Given the description of an element on the screen output the (x, y) to click on. 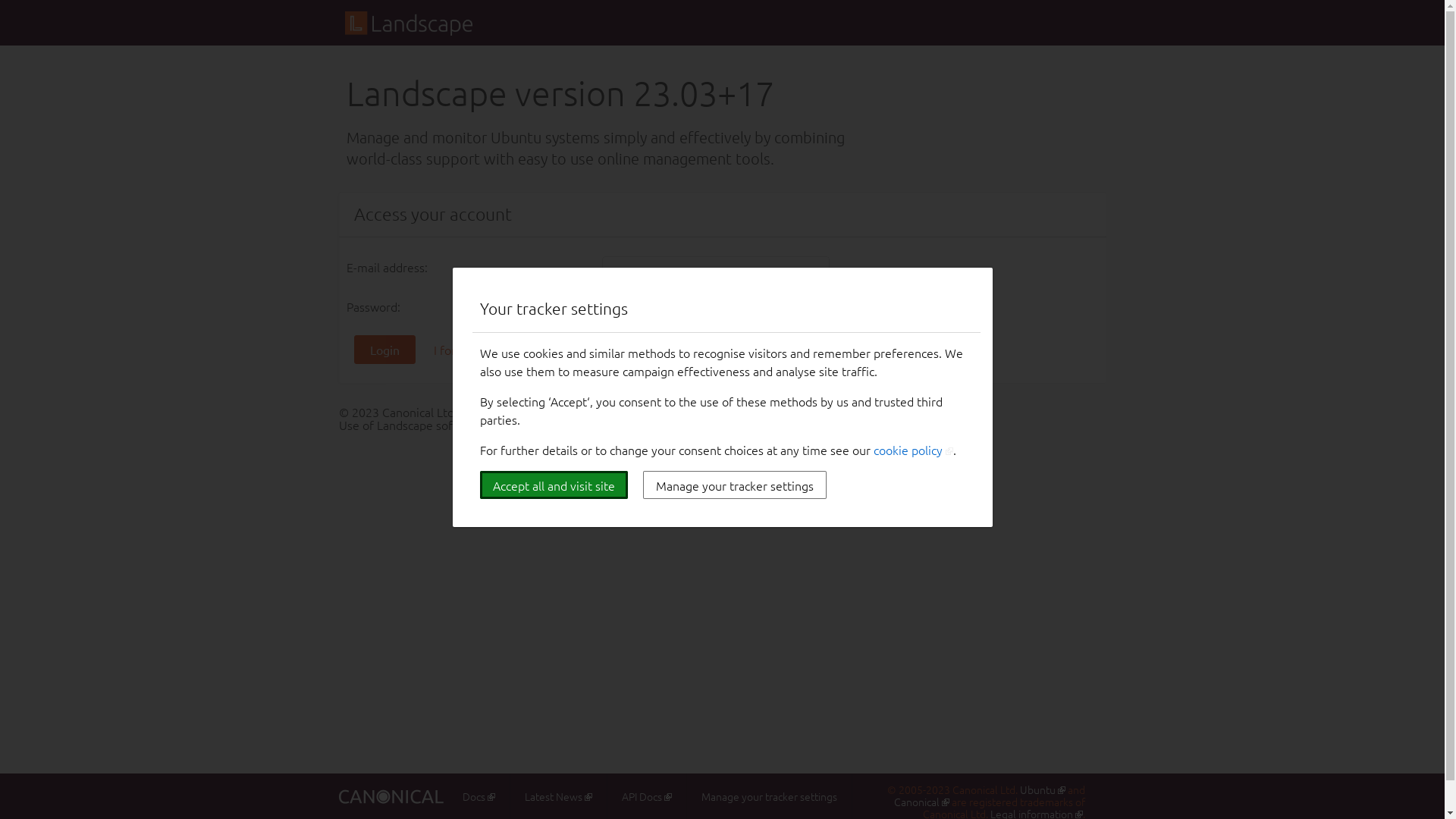
Accept all and visit site Element type: text (553, 484)
Manage your tracker settings Element type: text (734, 484)
Manage your tracker settings Element type: text (769, 787)
Login Element type: text (383, 349)
cookie policy Element type: text (913, 449)
I forgot my passphrase Element type: text (494, 349)
Docs Element type: text (478, 787)
API Docs Element type: text (646, 787)
Canonical Element type: text (921, 801)
Ubuntu Element type: text (1042, 789)
Latest News Element type: text (558, 787)
